Given the description of an element on the screen output the (x, y) to click on. 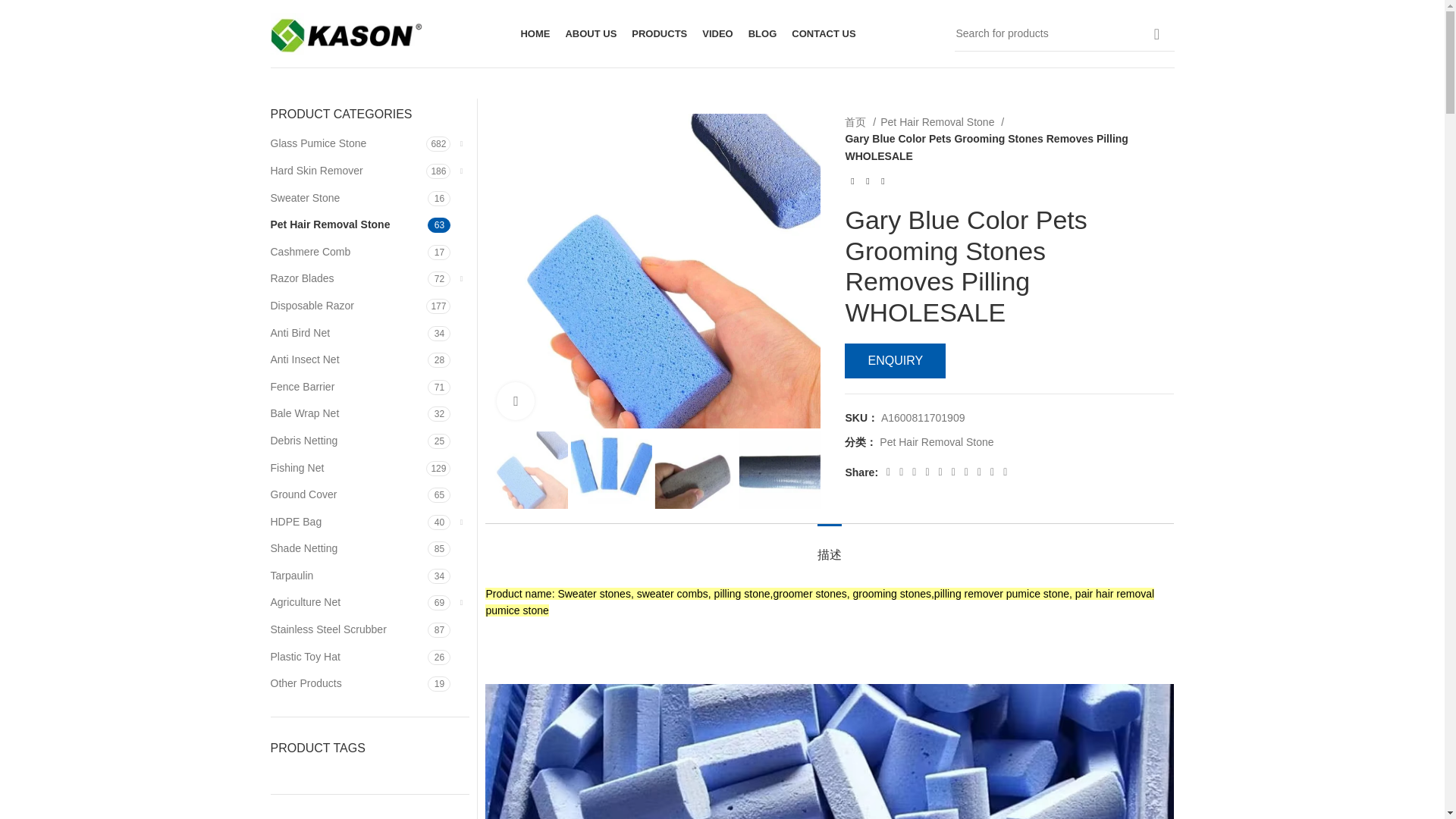
H4fd9345824e54808ab0ff7851c9fb5152.jpg (653, 270)
Glass Pumice Stone (347, 144)
Bale Wrap Net (348, 413)
Hard Skin Remover (347, 171)
Ground Cover (348, 494)
Search for products (1063, 33)
Fence Barrier (348, 387)
Razor Blades (348, 278)
Pet Hair Removal Stone (348, 225)
Shade Netting (348, 548)
Anti Bird Net (348, 333)
HOME (534, 33)
SEARCH (1155, 33)
ABOUT US (589, 33)
